Given the description of an element on the screen output the (x, y) to click on. 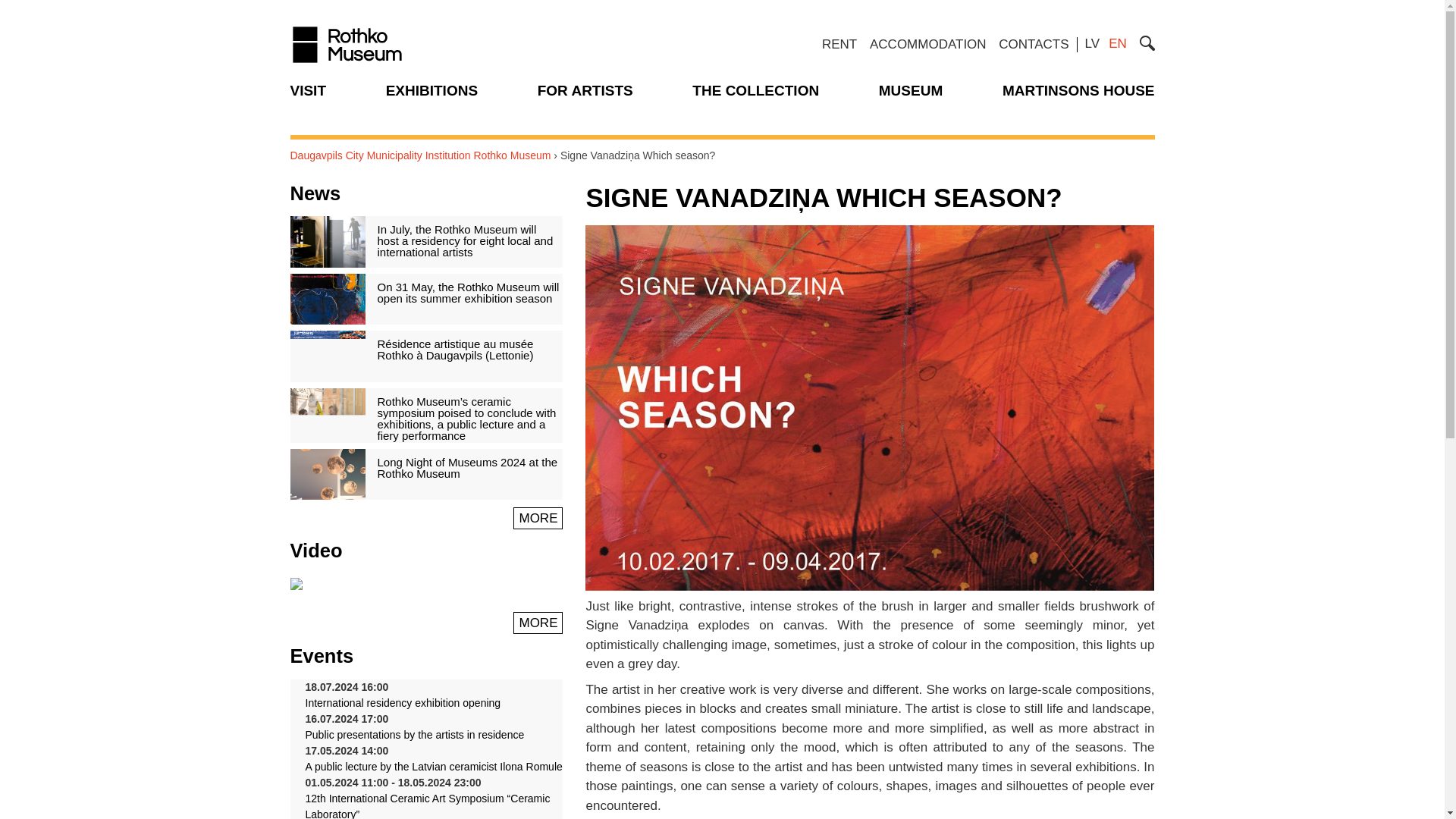
CONTACTS (1033, 43)
LV (1092, 43)
EN (1117, 43)
Public presentations by the artists in residence (414, 734)
ACCOMMODATION (928, 43)
Other video (537, 622)
Other news (537, 517)
A public lecture by the Latvian ceramicist Ilona Romule (433, 766)
Long Night of Museums 2024 at the Rothko Museum (327, 473)
